Given the description of an element on the screen output the (x, y) to click on. 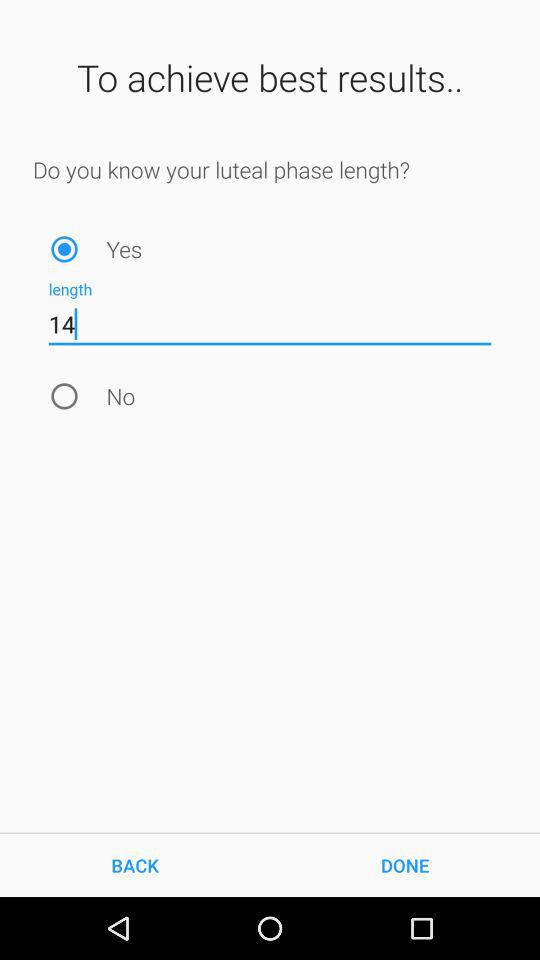
choose the item below 14 (64, 395)
